Given the description of an element on the screen output the (x, y) to click on. 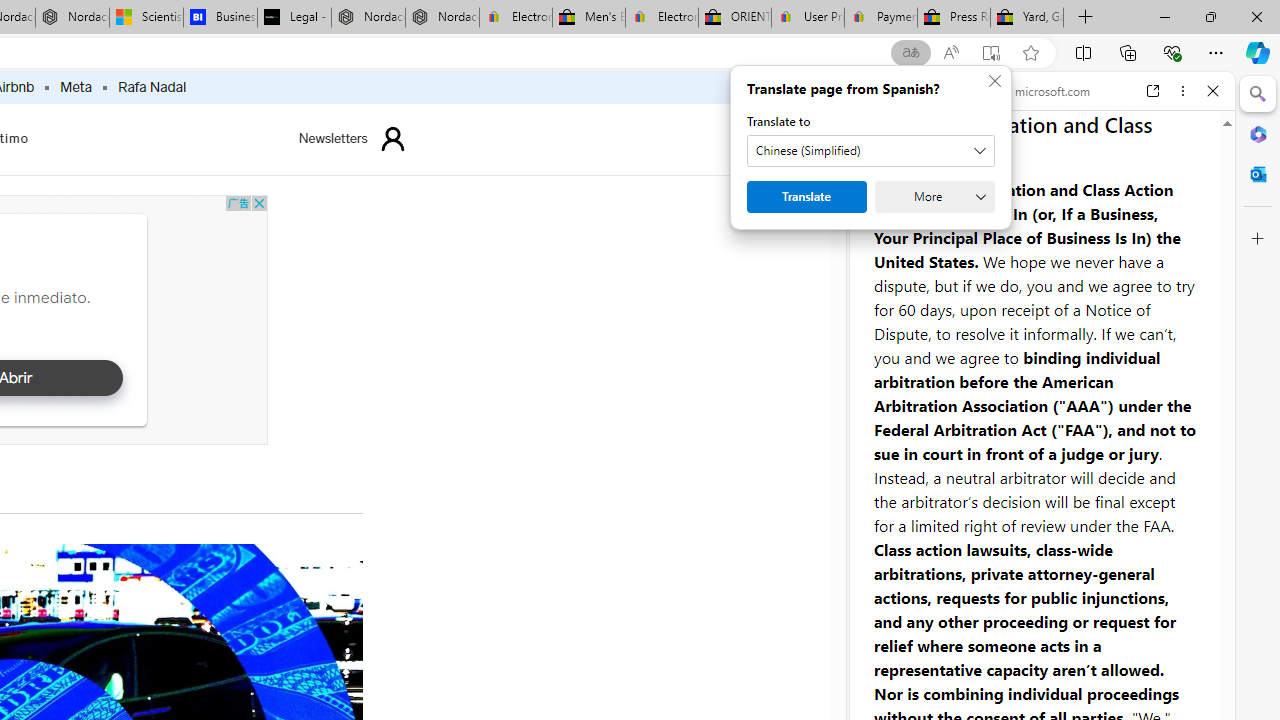
Rafa Nadal (151, 88)
Meta (75, 88)
Newsletters (333, 138)
Show translate options (910, 53)
User Privacy Notice | eBay (807, 17)
More (854, 196)
Rafa Nadal (152, 88)
Payments Terms of Use | eBay.com (880, 17)
